Given the description of an element on the screen output the (x, y) to click on. 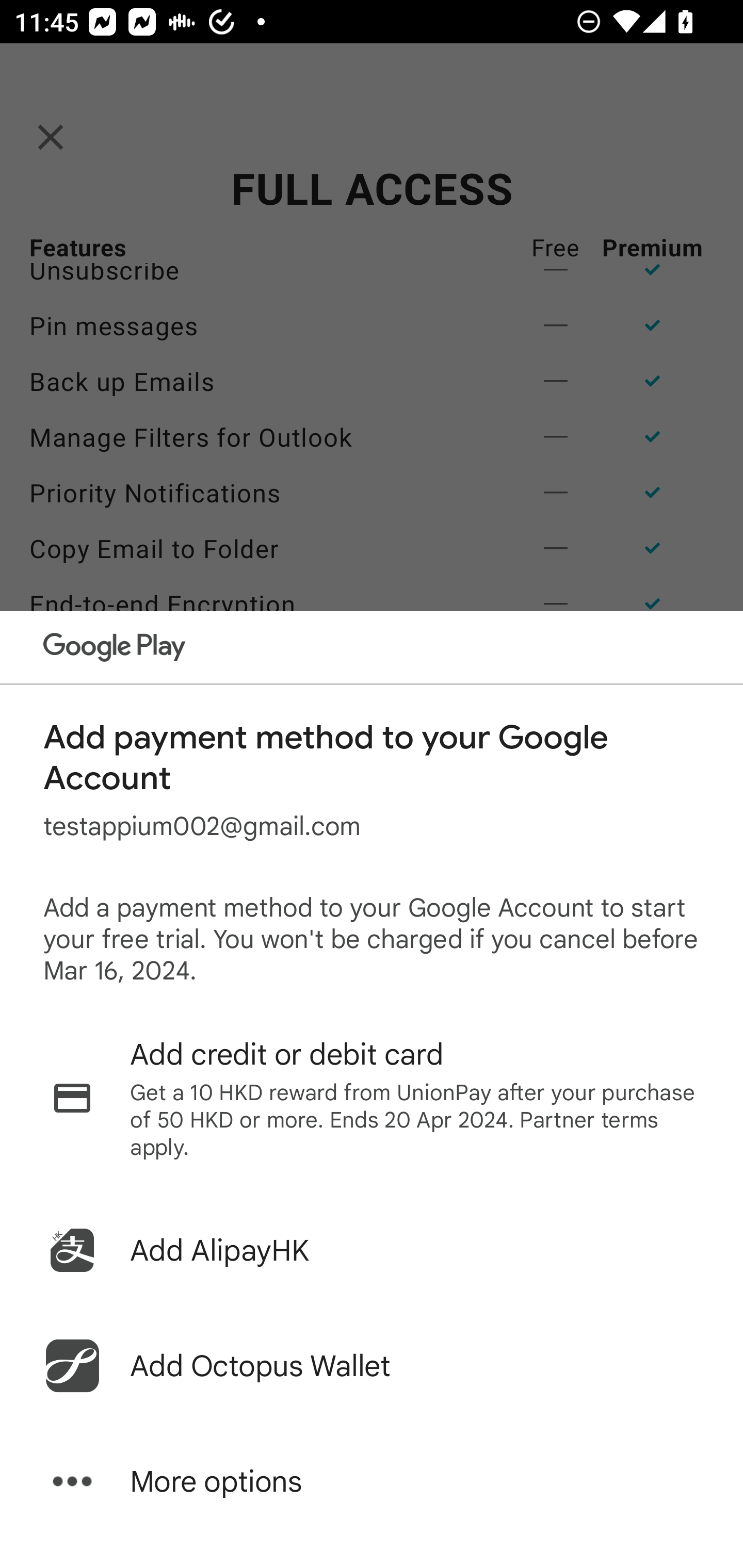
Add AlipayHK (371, 1250)
Add Octopus Wallet (371, 1365)
More options (371, 1481)
